Given the description of an element on the screen output the (x, y) to click on. 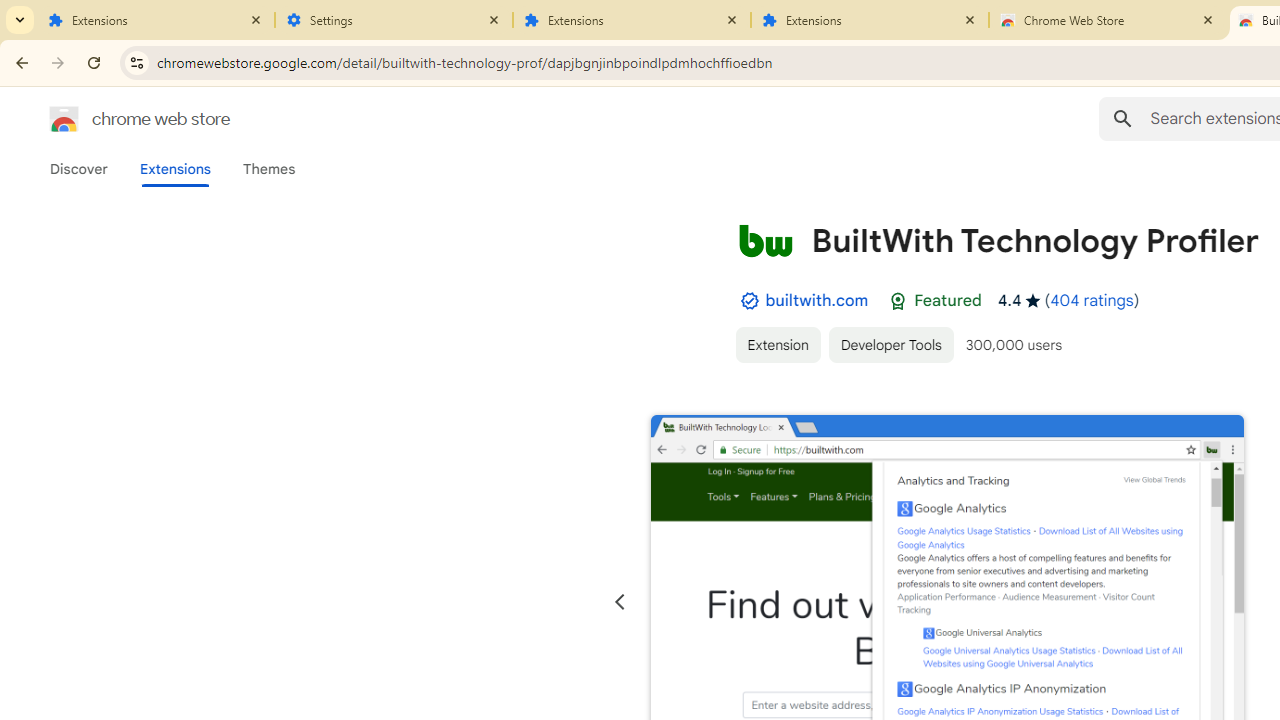
Item logo image for BuiltWith Technology Profiler (765, 240)
Themes (269, 169)
404 ratings (1091, 300)
Extensions (870, 20)
Discover (79, 169)
Previous slide (619, 601)
Chrome Web Store logo chrome web store (118, 118)
Developer Tools (890, 344)
Extensions (174, 169)
Chrome Web Store (1108, 20)
Extensions (632, 20)
